Given the description of an element on the screen output the (x, y) to click on. 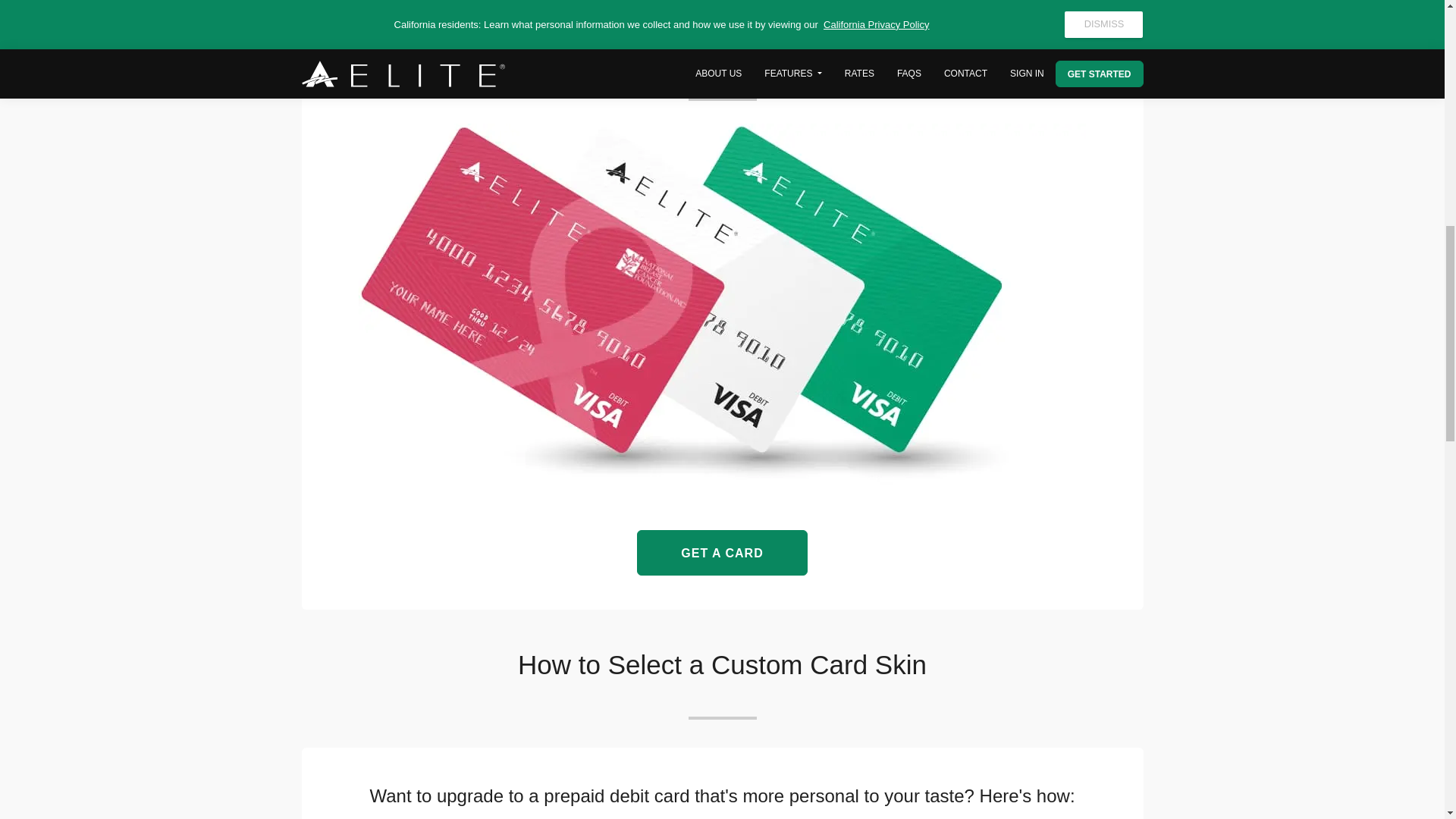
GET A CARD (721, 552)
